Given the description of an element on the screen output the (x, y) to click on. 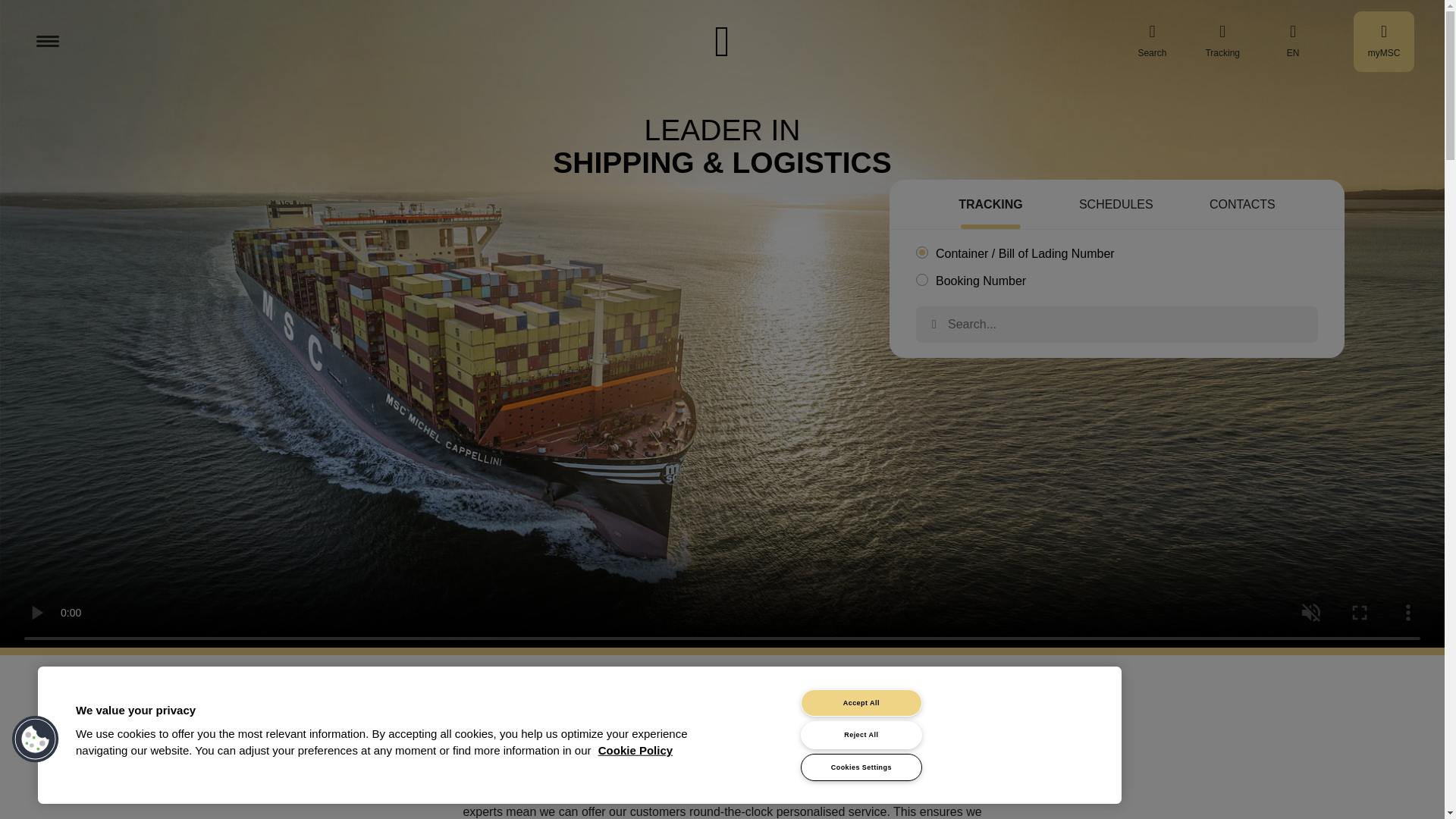
Cookies Button (36, 739)
CONTACTS (1241, 205)
SCHEDULES (1116, 205)
TRACKING (989, 205)
